Given the description of an element on the screen output the (x, y) to click on. 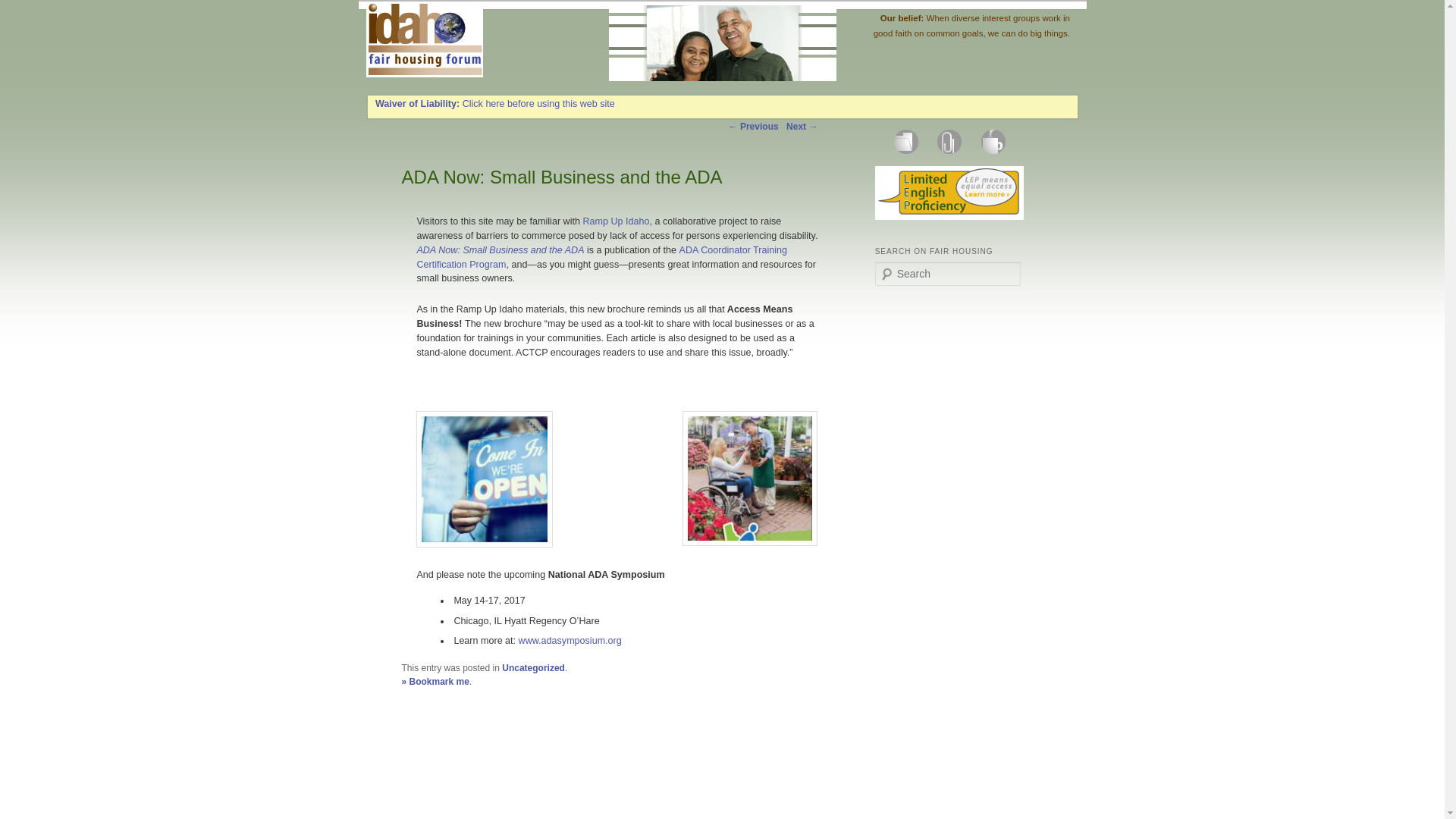
Uncategorized (533, 667)
Permalink to ADA Now: Small Business and the ADA (434, 681)
www.adasymposium.org (569, 640)
customer service is 'welcome' in any language (949, 193)
Search (21, 11)
ADA Coordinator Training Certification Program (601, 257)
ADA Now: Small Business and the ADA (499, 249)
Ramp Up Idaho (615, 221)
Waiver of Liability: Click here before using this web site (494, 103)
